Given the description of an element on the screen output the (x, y) to click on. 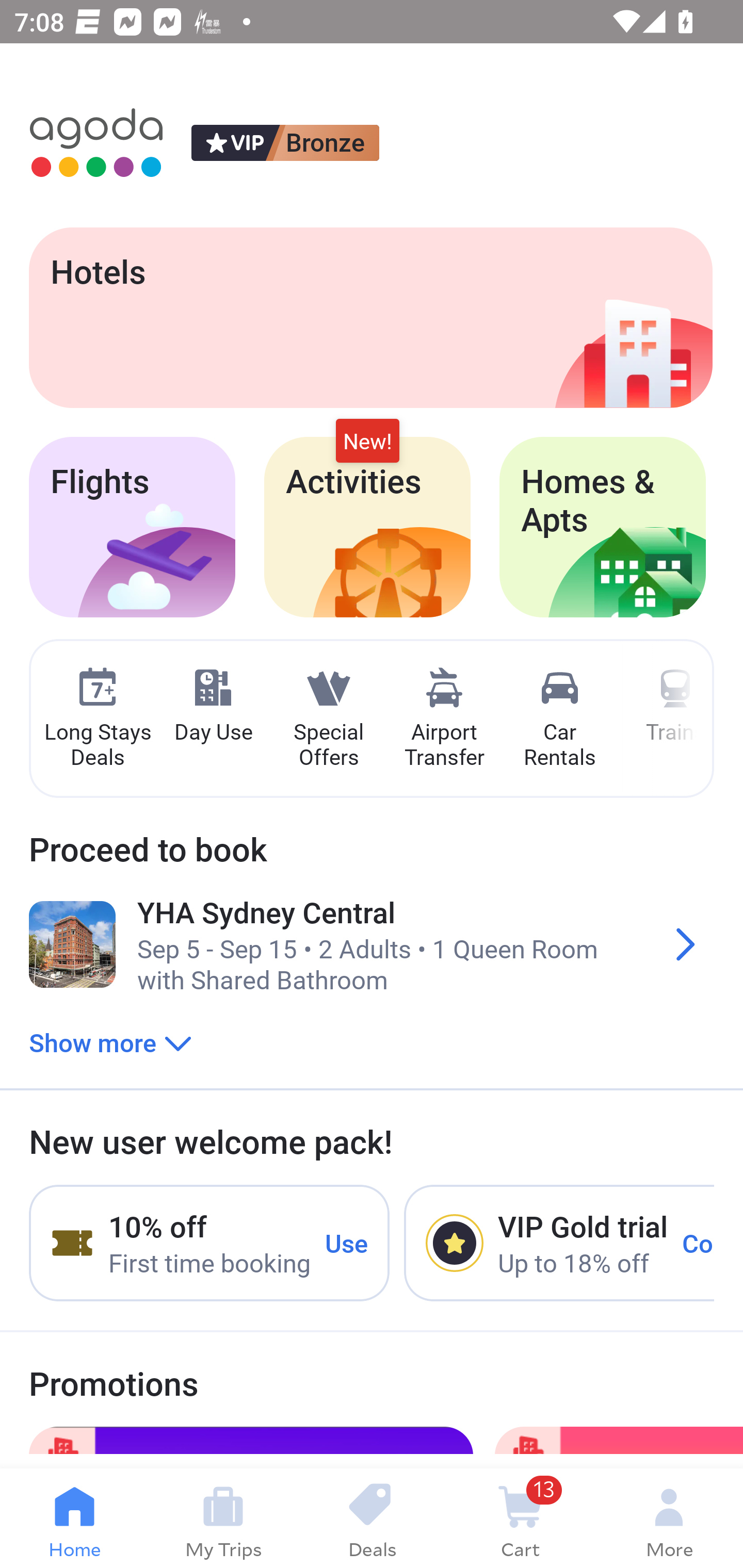
Hotels (370, 317)
New! (367, 441)
Flights (131, 527)
Activities (367, 527)
Homes & Apts (602, 527)
Day Use (213, 706)
Long Stays Deals (97, 718)
Special Offers (328, 718)
Airport Transfer (444, 718)
Car Rentals (559, 718)
Show more (110, 1041)
Use (346, 1242)
Home (74, 1518)
My Trips (222, 1518)
Deals (371, 1518)
13 Cart (519, 1518)
More (668, 1518)
